Given the description of an element on the screen output the (x, y) to click on. 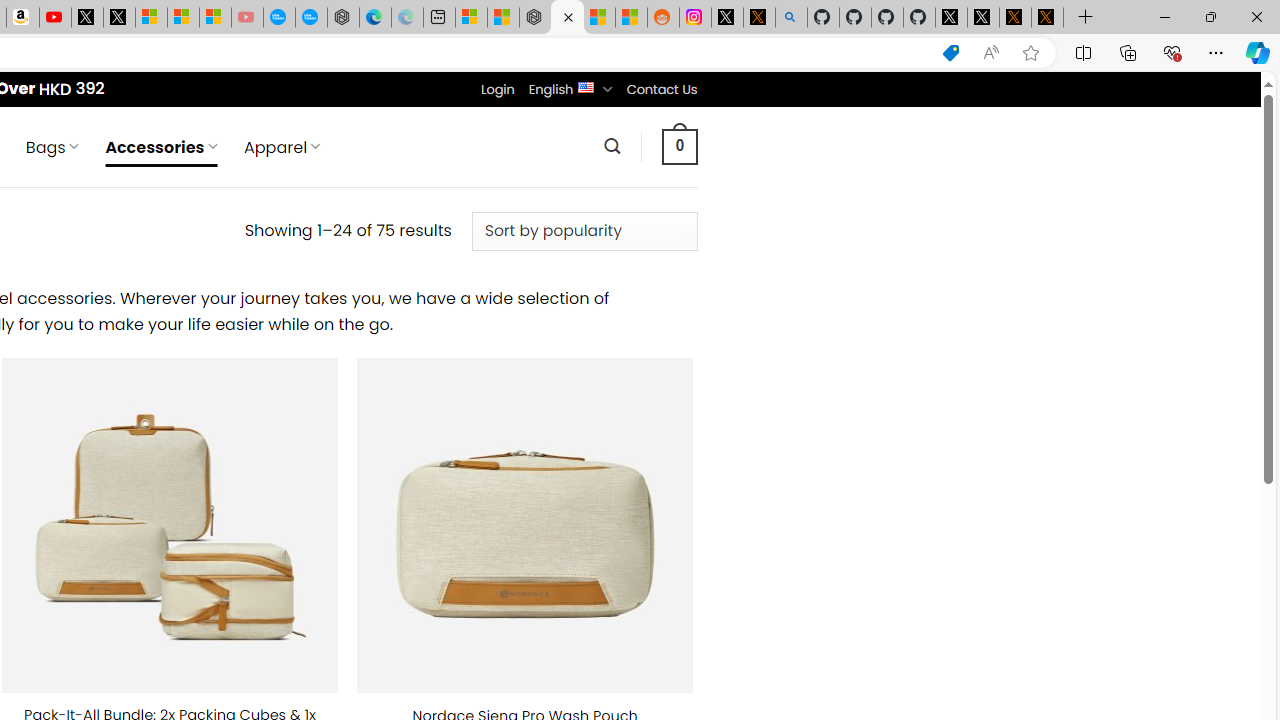
The most popular Google 'how to' searches (310, 17)
 0  (679, 146)
Nordace - Accessories (566, 17)
This site has coupons! Shopping in Microsoft Edge (950, 53)
X Privacy Policy (1047, 17)
help.x.com | 524: A timeout occurred (758, 17)
Login (497, 89)
